Given the description of an element on the screen output the (x, y) to click on. 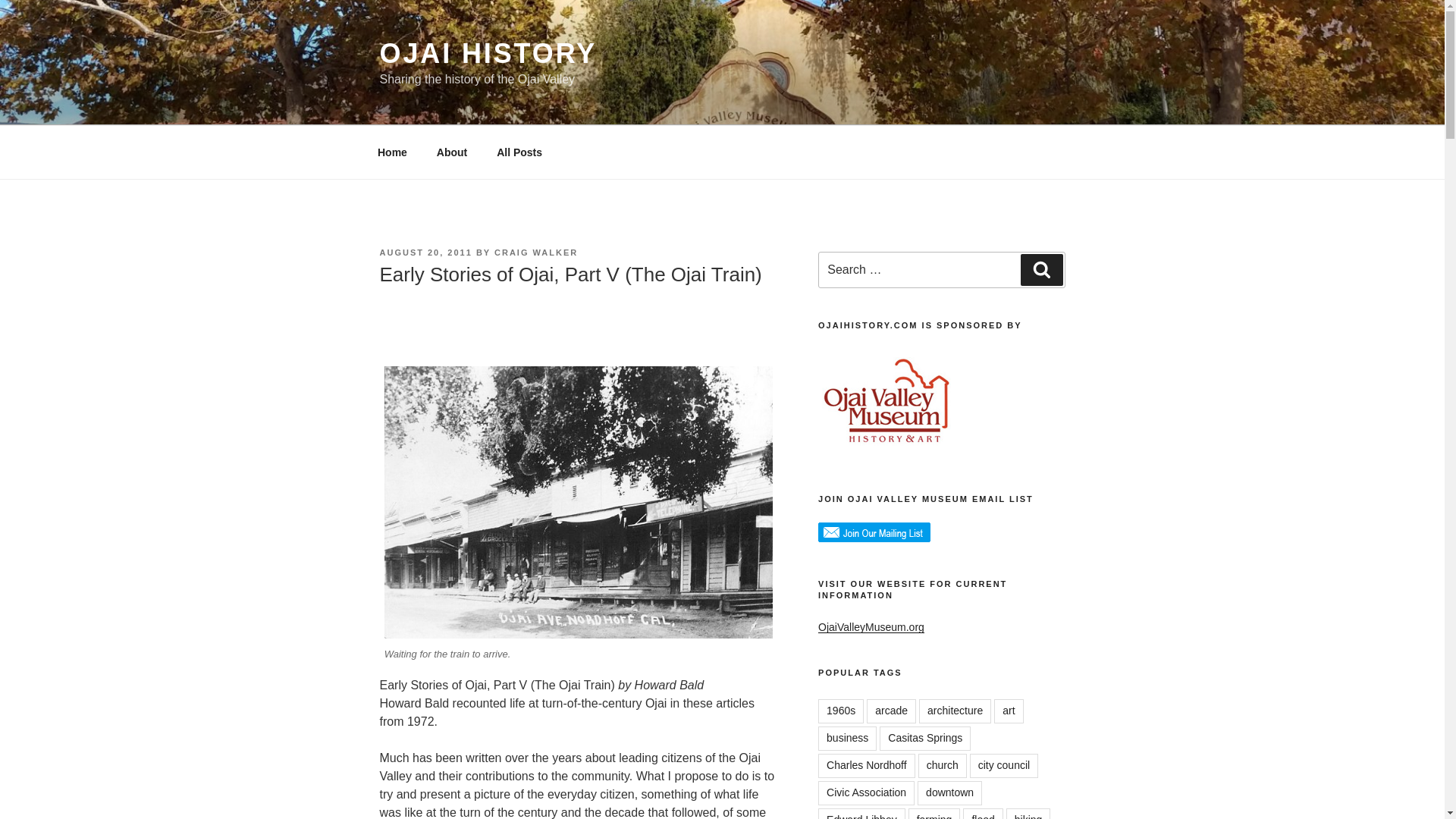
OJAI HISTORY (487, 52)
downtown (949, 793)
city council (1003, 765)
Charles Nordhoff (866, 765)
Search (1041, 269)
art (1008, 711)
CRAIG WALKER (536, 252)
business (847, 738)
BoardWalk (578, 502)
Home (392, 151)
architecture (954, 711)
Civic Association (866, 793)
church (942, 765)
OjaiValleyMuseum.org (871, 626)
AUGUST 20, 2011 (424, 252)
